Given the description of an element on the screen output the (x, y) to click on. 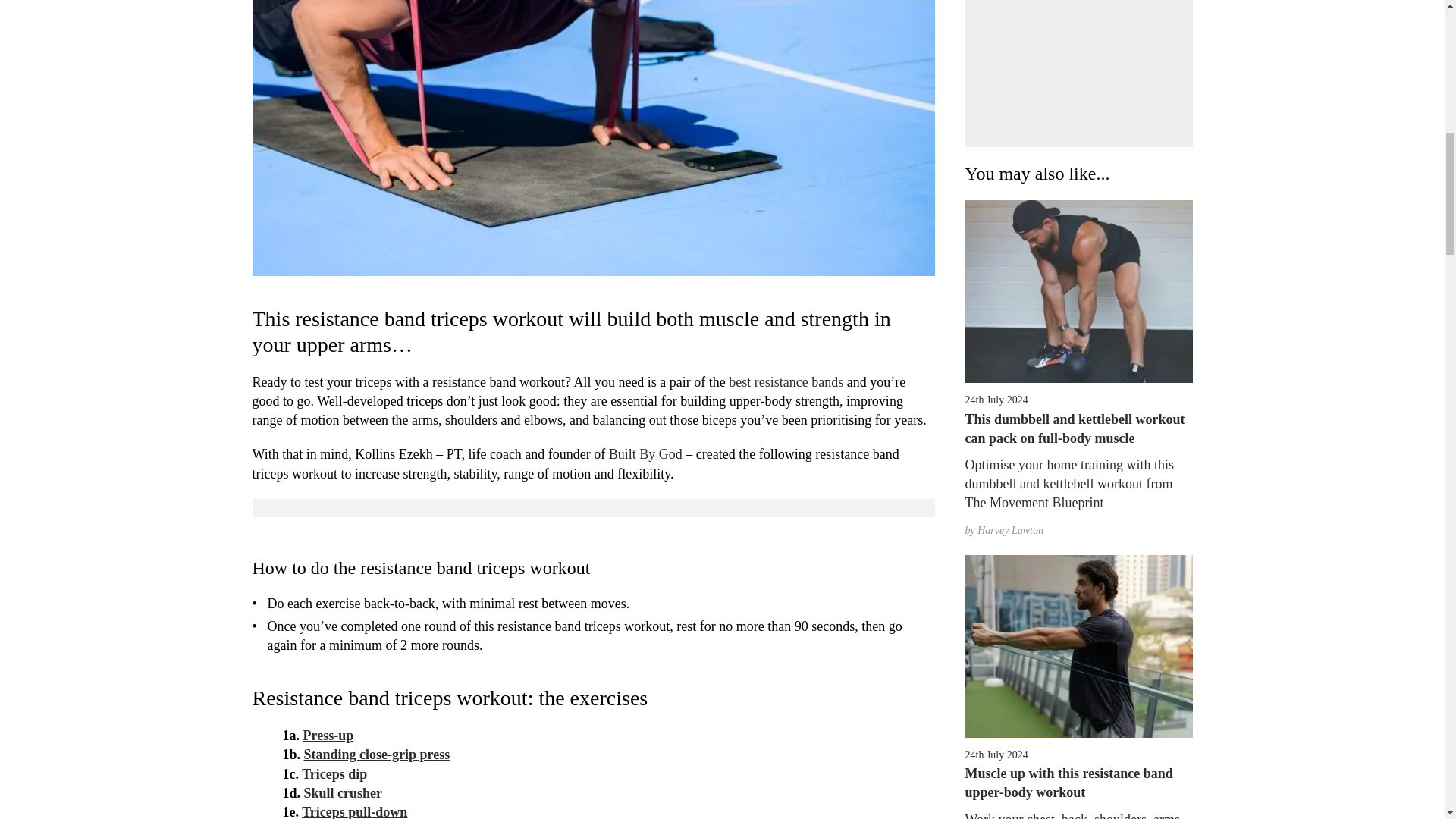
Press-up (327, 735)
best resistance bands (786, 381)
Built By God (645, 453)
